Given the description of an element on the screen output the (x, y) to click on. 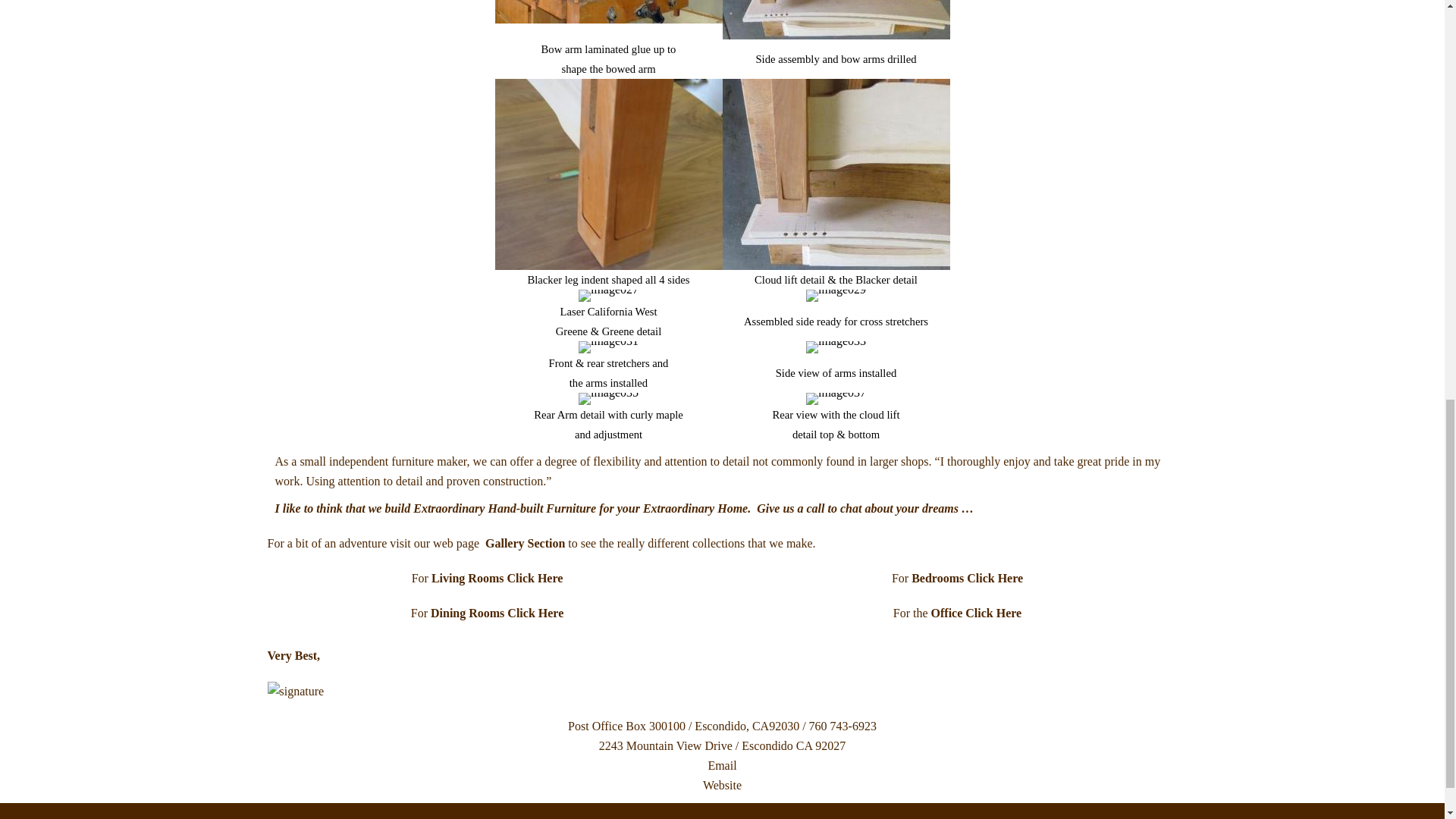
Click Here (993, 612)
Website (722, 784)
Click Here (534, 577)
Click Here (994, 577)
Click Here (534, 612)
Email (721, 765)
Gallery Section (524, 543)
